Given the description of an element on the screen output the (x, y) to click on. 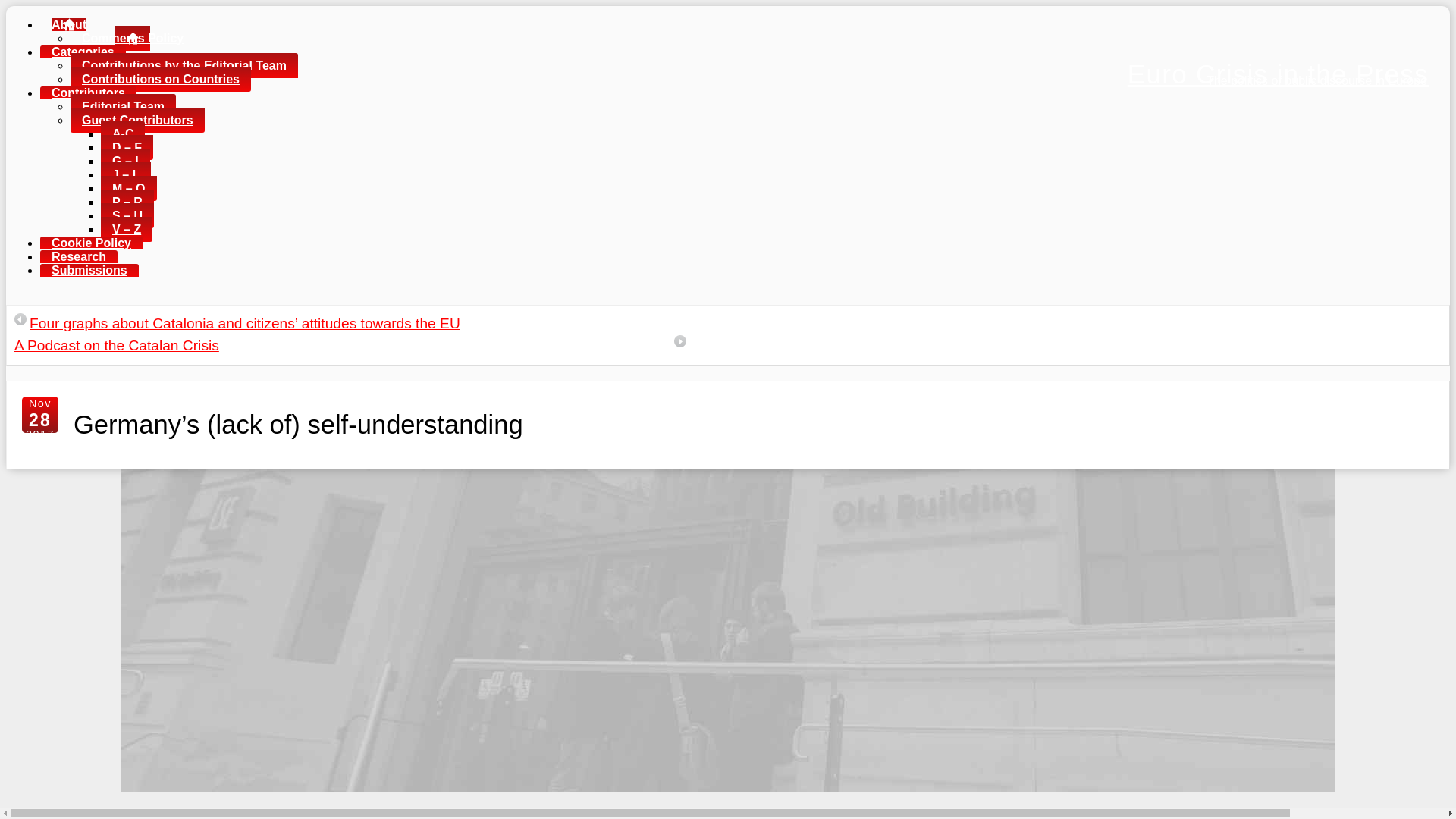
A-C (122, 133)
Contributors (88, 92)
Guest Contributors (137, 119)
Research (78, 256)
Skip to content (36, 37)
A Podcast on the Catalan Crisis (116, 344)
Editorial Team (122, 106)
Categories (82, 51)
Euro Crisis in the Press (1277, 73)
Submissions (89, 269)
